Given the description of an element on the screen output the (x, y) to click on. 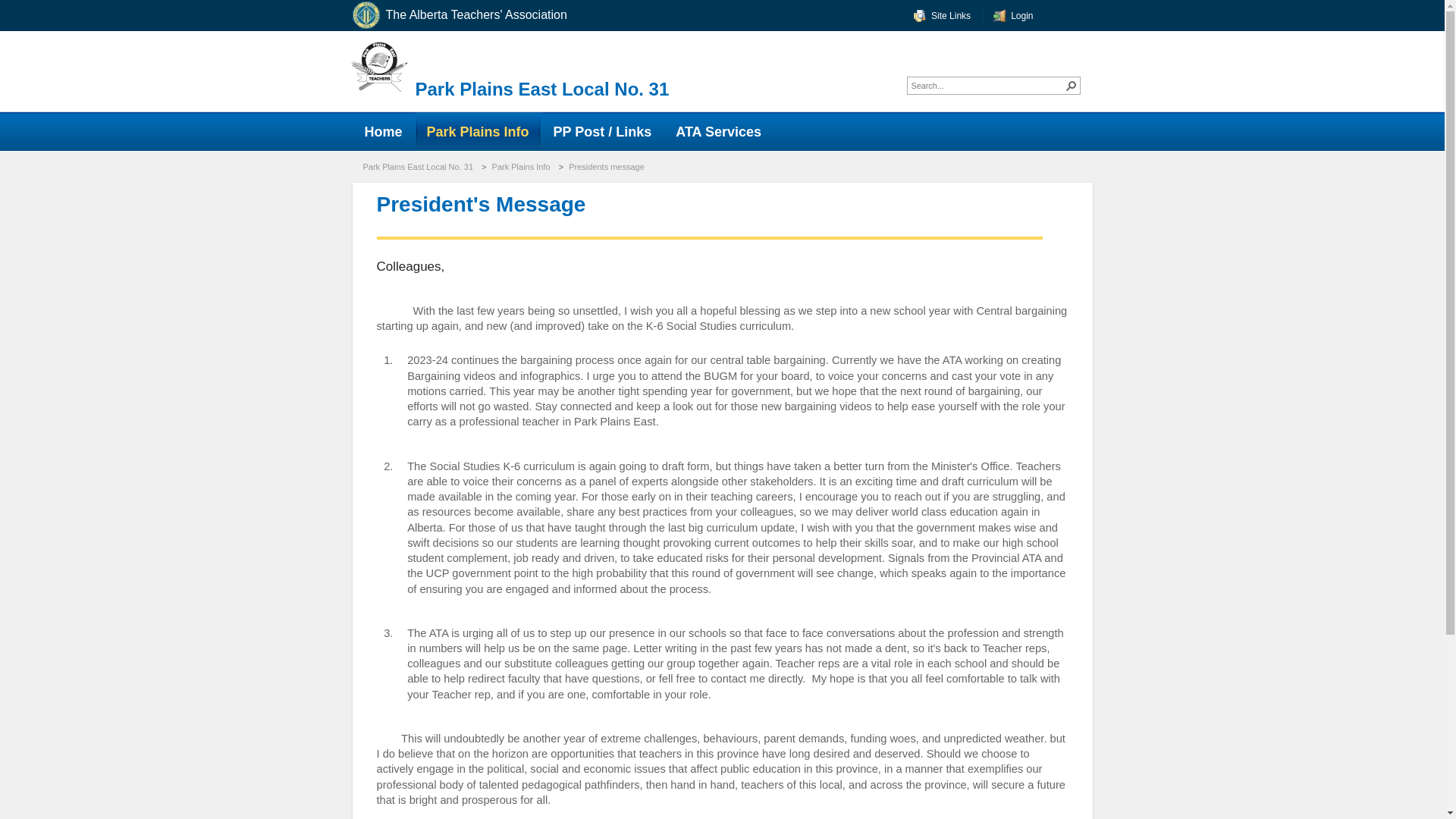
Search... (987, 85)
Park Plains East Local No. 31 (541, 88)
Site Links (942, 15)
ATA Services (718, 131)
Login (1012, 15)
Park Plains Info (477, 131)
Presidents message (608, 166)
Park Plains Info (522, 166)
Park Plains East Local No. 31 (419, 166)
Home (382, 131)
